Given the description of an element on the screen output the (x, y) to click on. 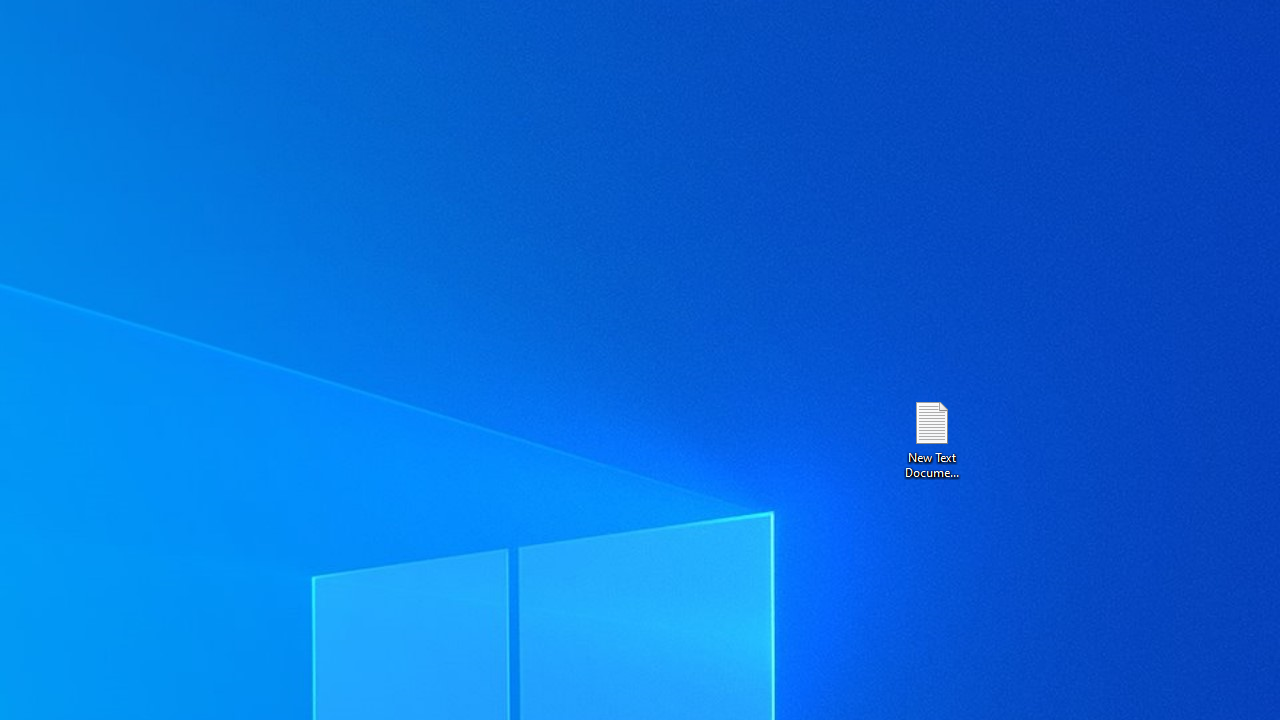
New Text Document (2) (931, 438)
